Given the description of an element on the screen output the (x, y) to click on. 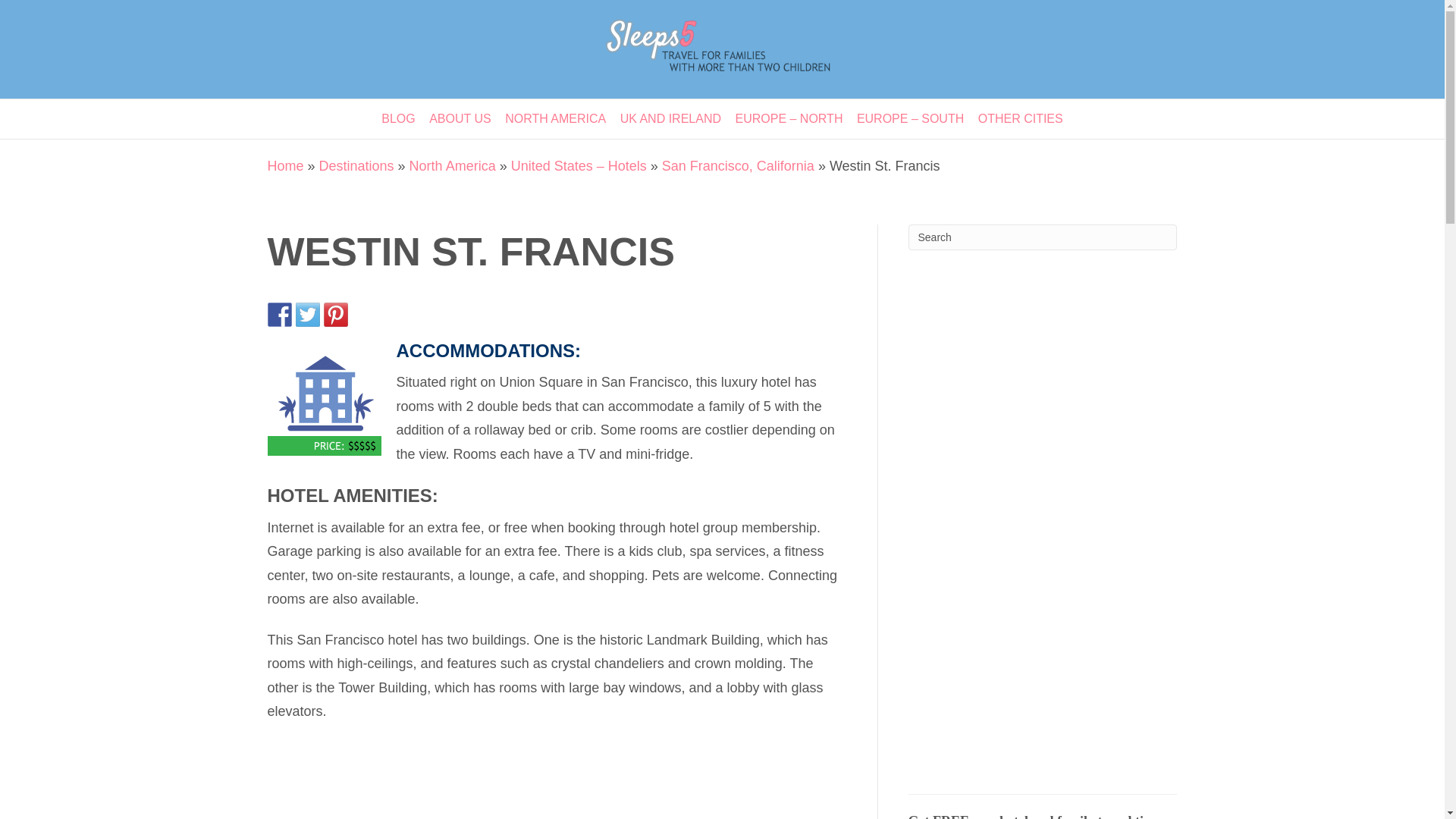
UK AND IRELAND (670, 118)
Search (1042, 237)
ABOUT US (459, 118)
Share on Twitter (307, 314)
Share on Facebook (278, 314)
Search (1042, 237)
NORTH AMERICA (555, 118)
BLOG (397, 118)
